Given the description of an element on the screen output the (x, y) to click on. 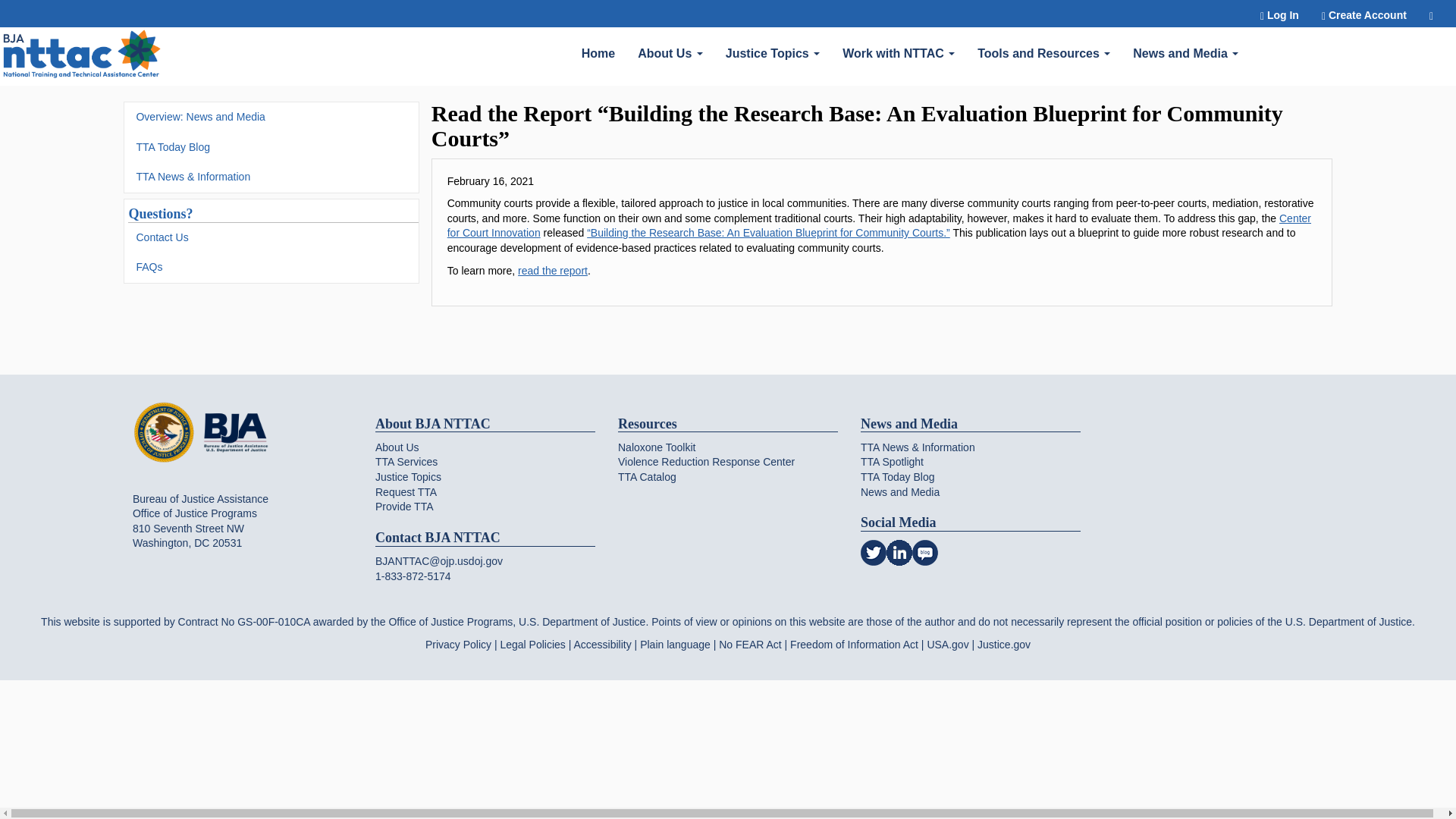
Overview (670, 52)
Tools and Resources (1043, 52)
Search (1431, 13)
Navigate to Working with BJA NTTAC (81, 56)
Register for Account (1364, 13)
Justice Topics (772, 52)
Home (598, 52)
Create Account (1364, 13)
Work with NTTAC (898, 52)
